Given the description of an element on the screen output the (x, y) to click on. 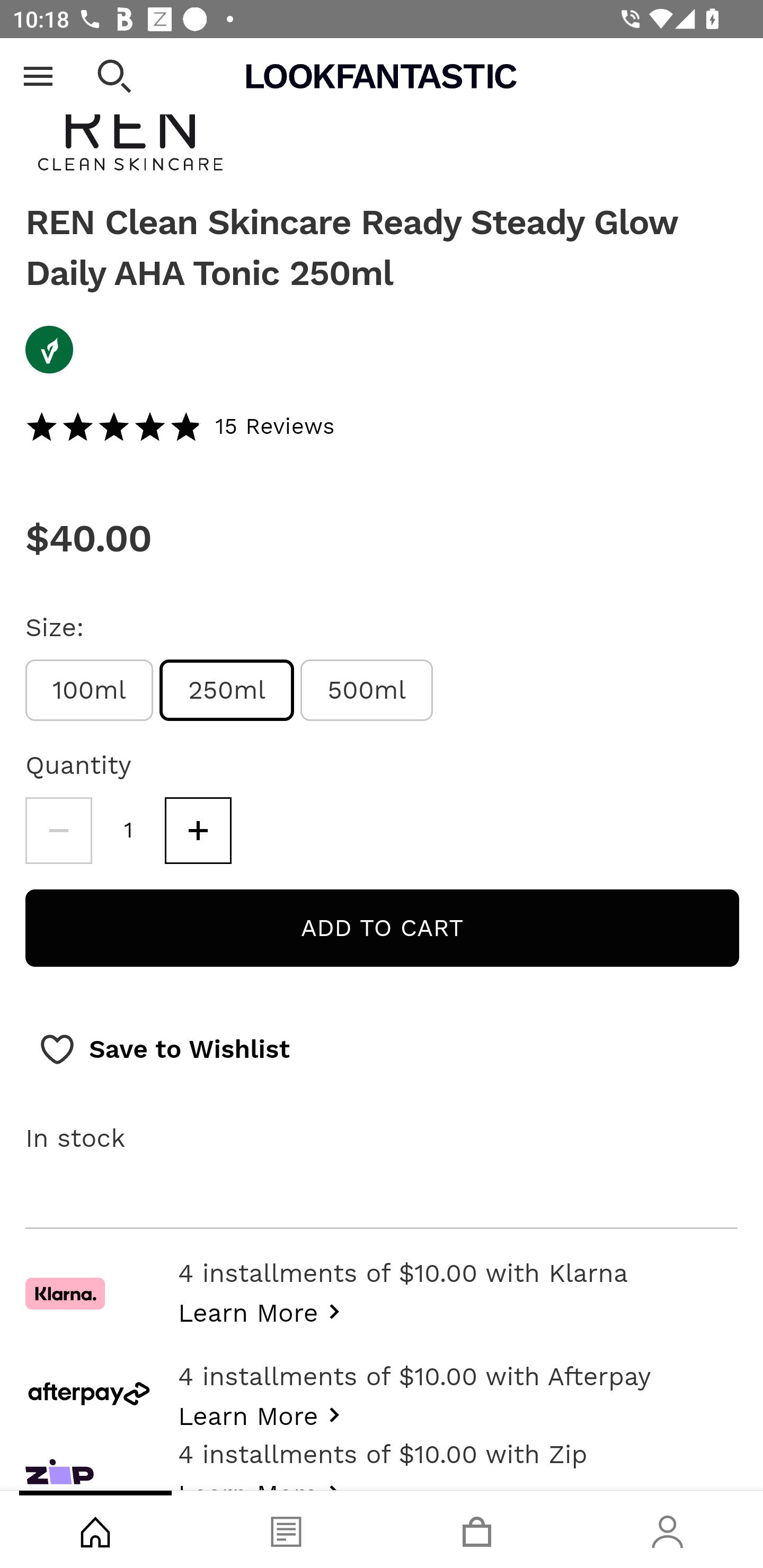
REN Clean Skincare (381, 137)
Vegan (381, 351)
100ml (89, 690)
250ml selected (227, 690)
500ml (367, 690)
Decrease quantity (58, 829)
1, Quantity (128, 829)
Increase quantity (197, 829)
Add to cart (382, 928)
Save to Wishlist (164, 1049)
Learn More about klarna_slice (263, 1310)
Learn More about afterpay (263, 1413)
Shop, tab, 1 of 4 (95, 1529)
Blog, tab, 2 of 4 (285, 1529)
Basket, tab, 3 of 4 (476, 1529)
Account, tab, 4 of 4 (667, 1529)
